Given the description of an element on the screen output the (x, y) to click on. 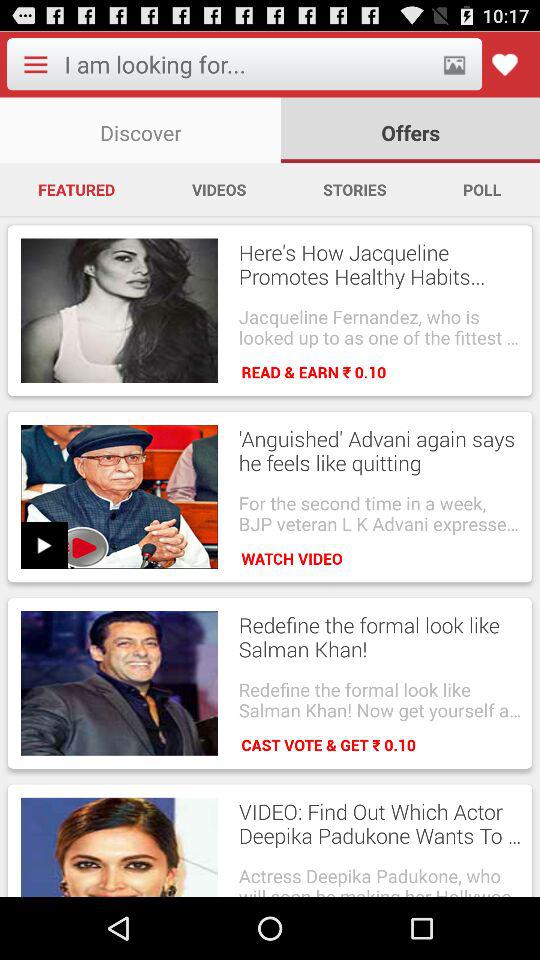
flip to videos item (218, 189)
